Given the description of an element on the screen output the (x, y) to click on. 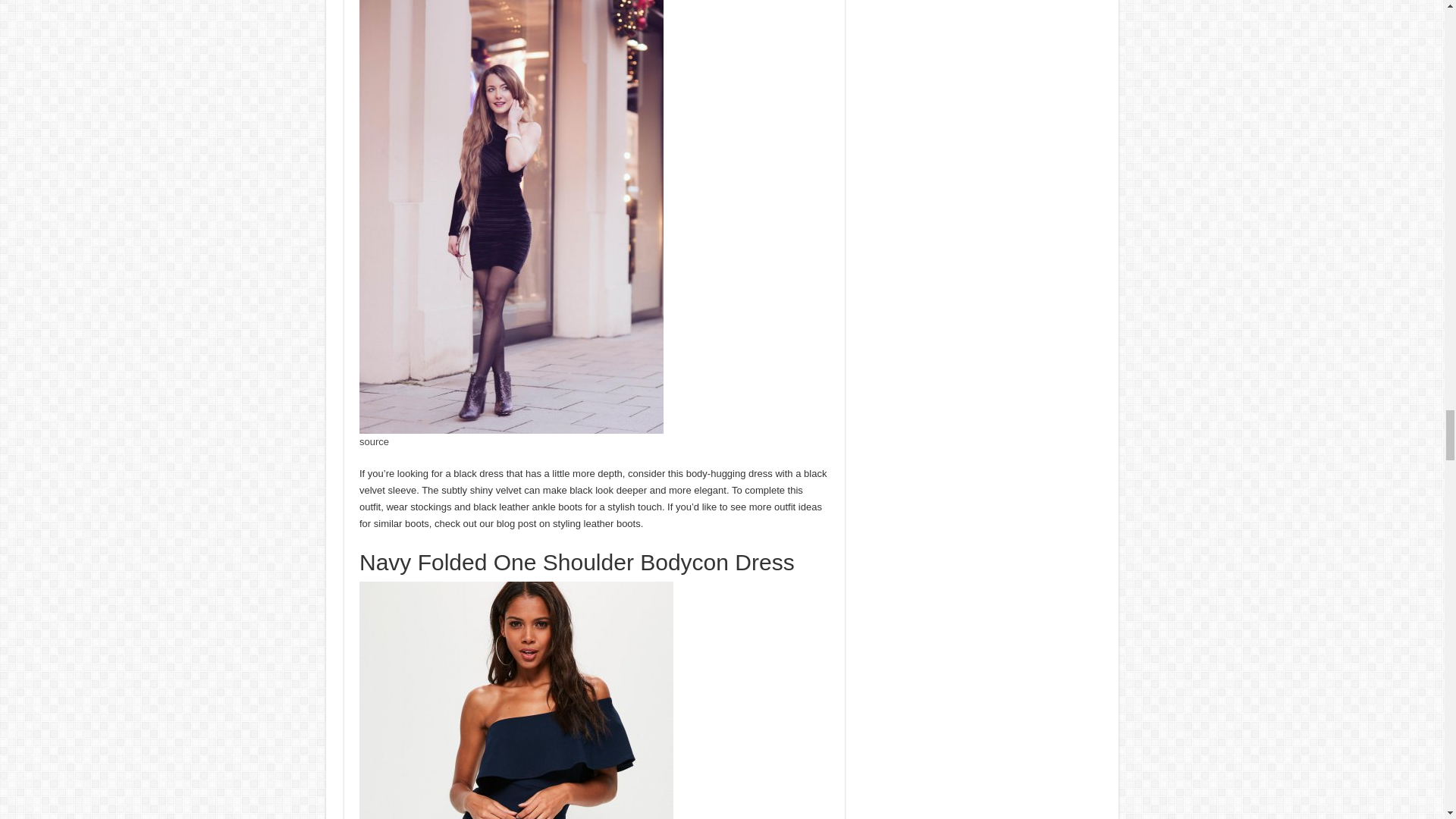
source (373, 441)
